Given the description of an element on the screen output the (x, y) to click on. 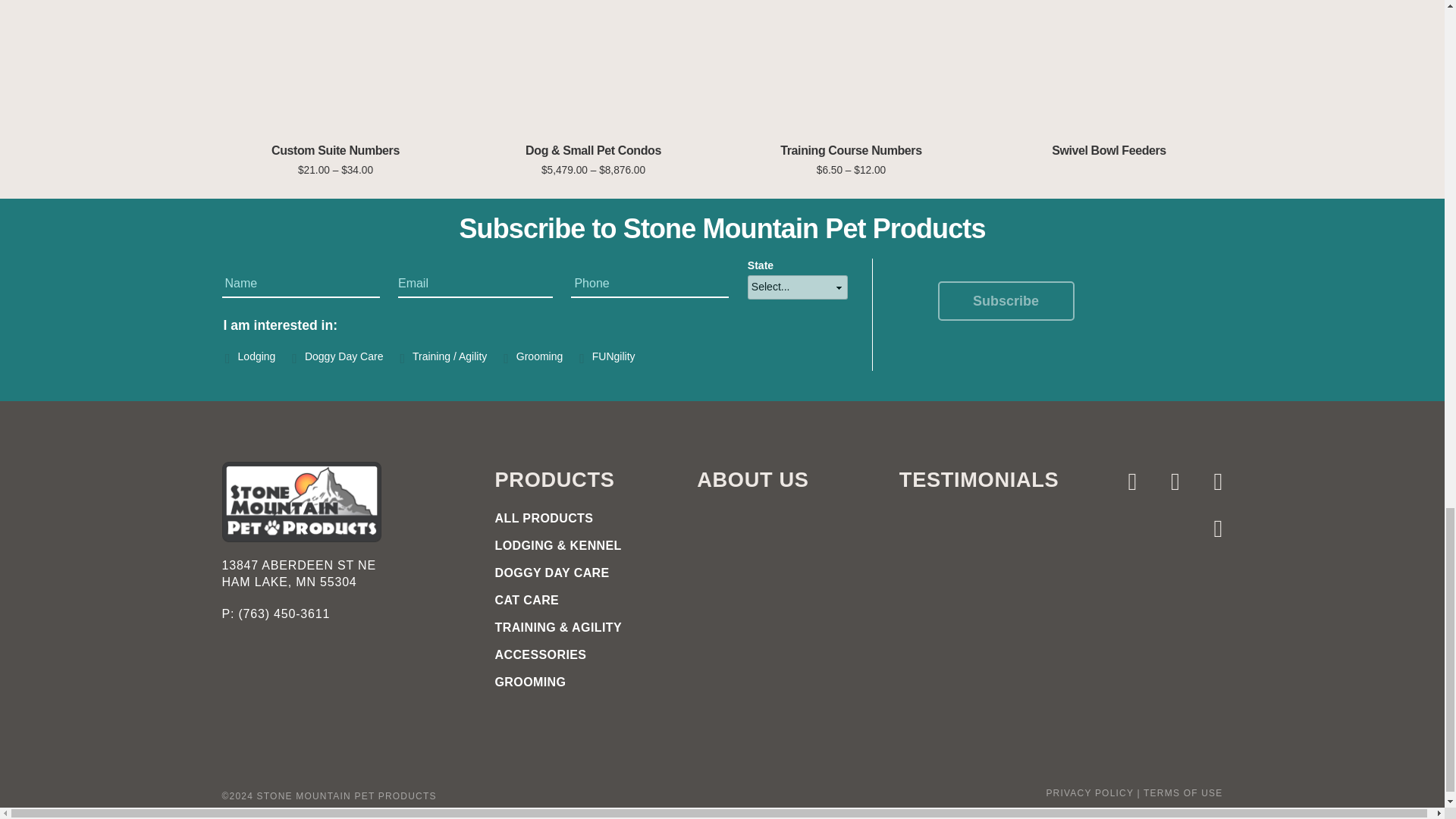
Phone Number (229, 613)
